Given the description of an element on the screen output the (x, y) to click on. 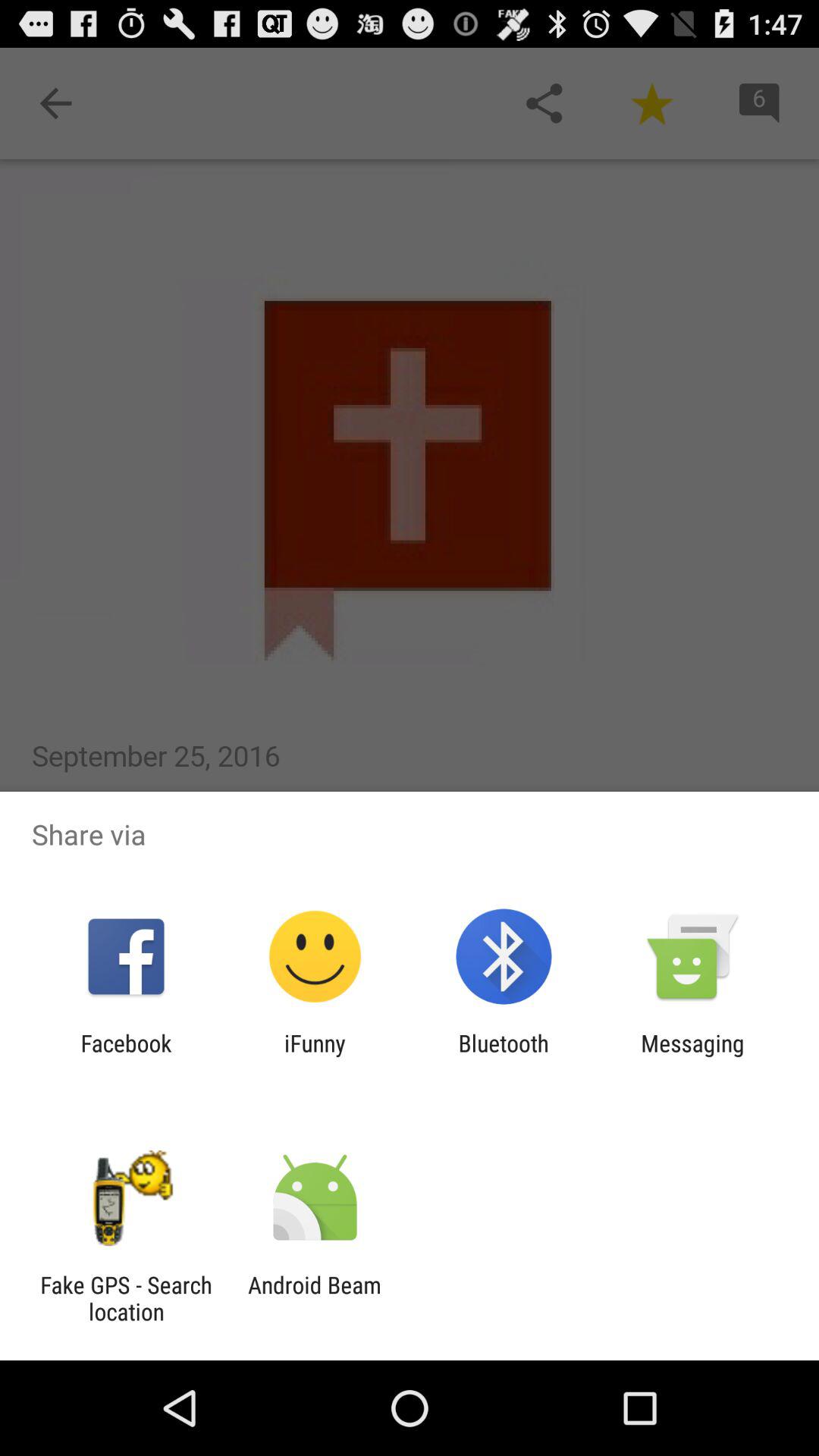
choose item next to ifunny (503, 1056)
